Given the description of an element on the screen output the (x, y) to click on. 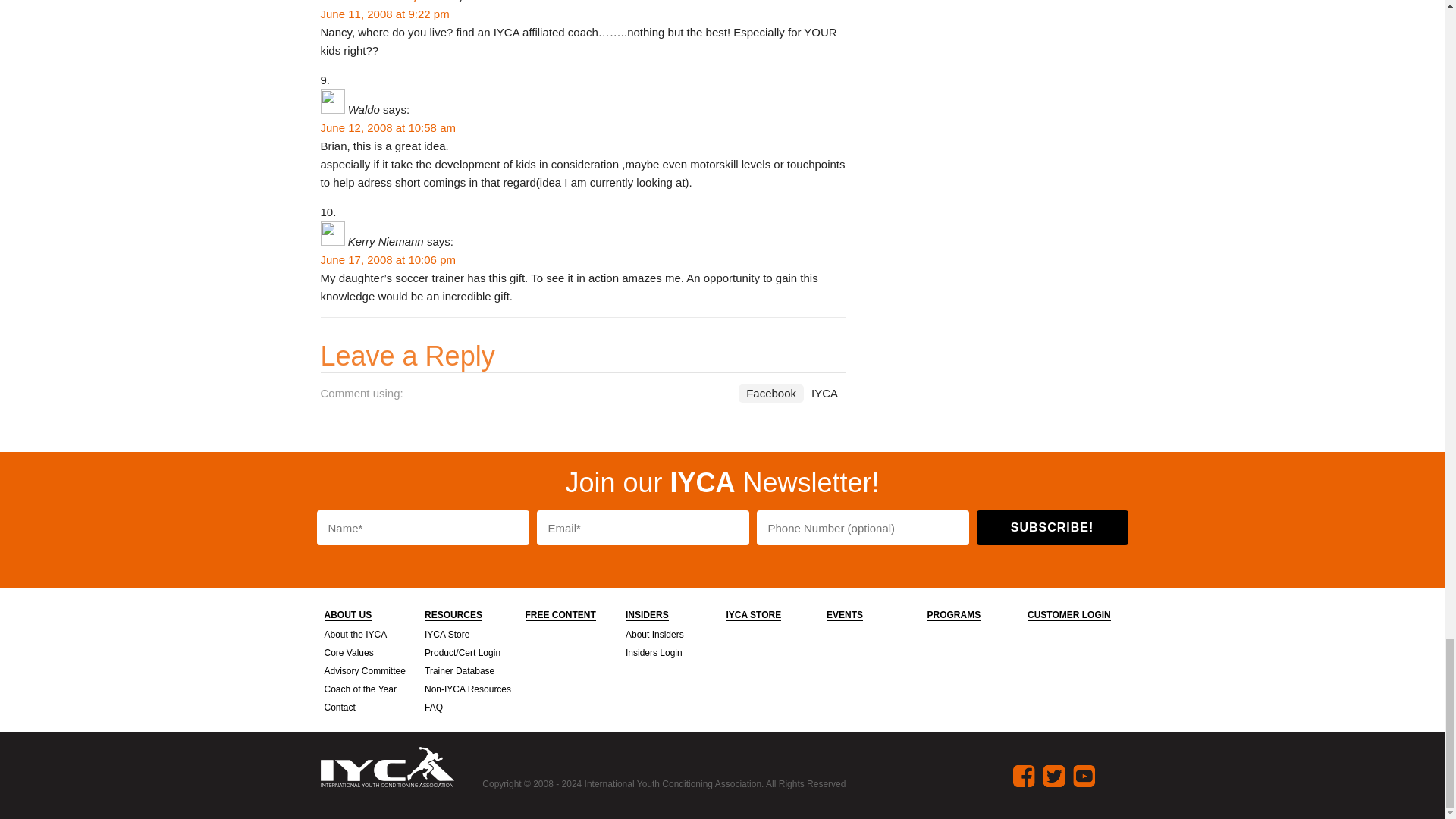
Subscribe! (1052, 527)
